Given the description of an element on the screen output the (x, y) to click on. 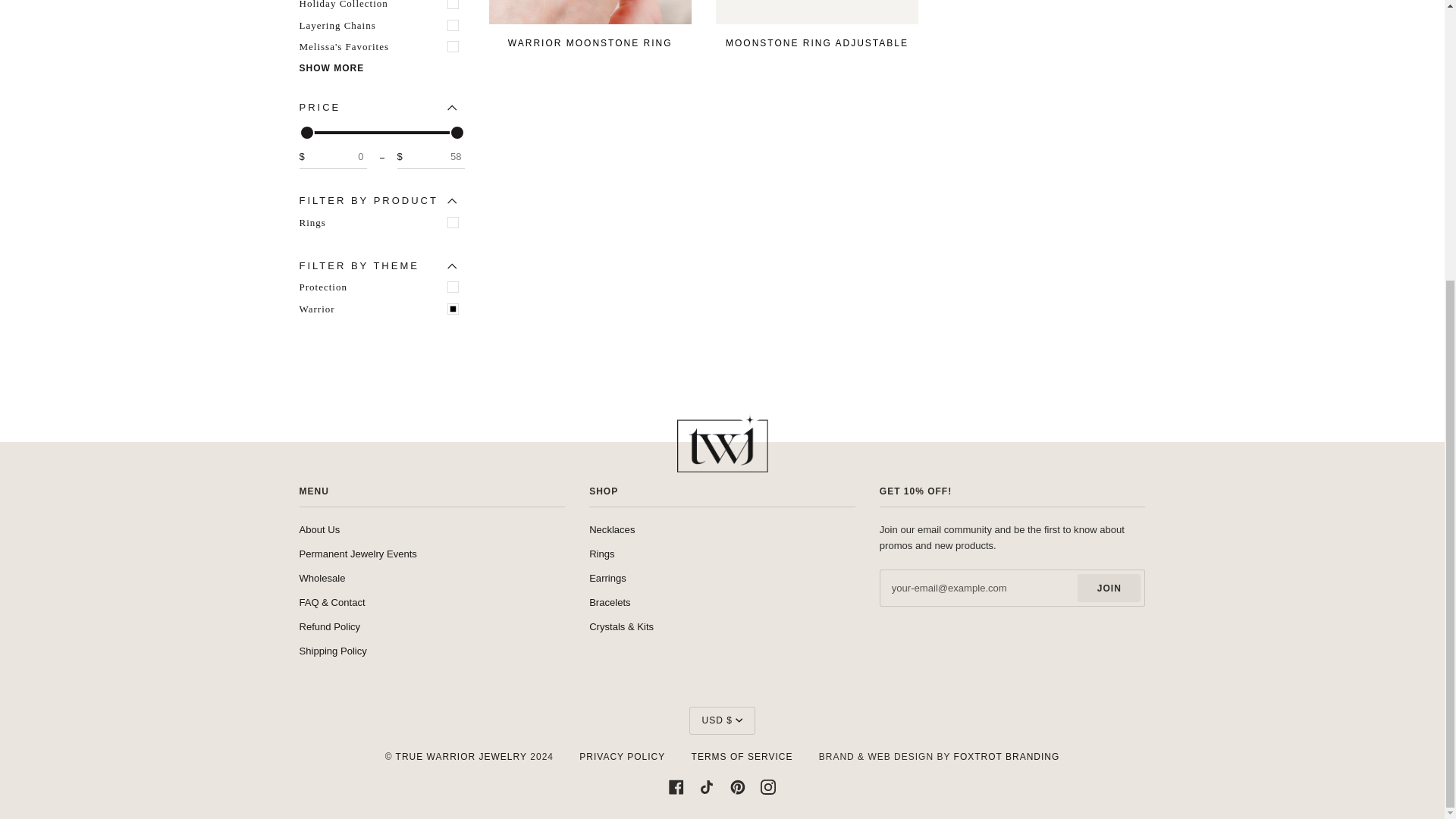
Tiktok (706, 786)
Instagram (768, 786)
Pinterest (737, 786)
Facebook (676, 786)
